Given the description of an element on the screen output the (x, y) to click on. 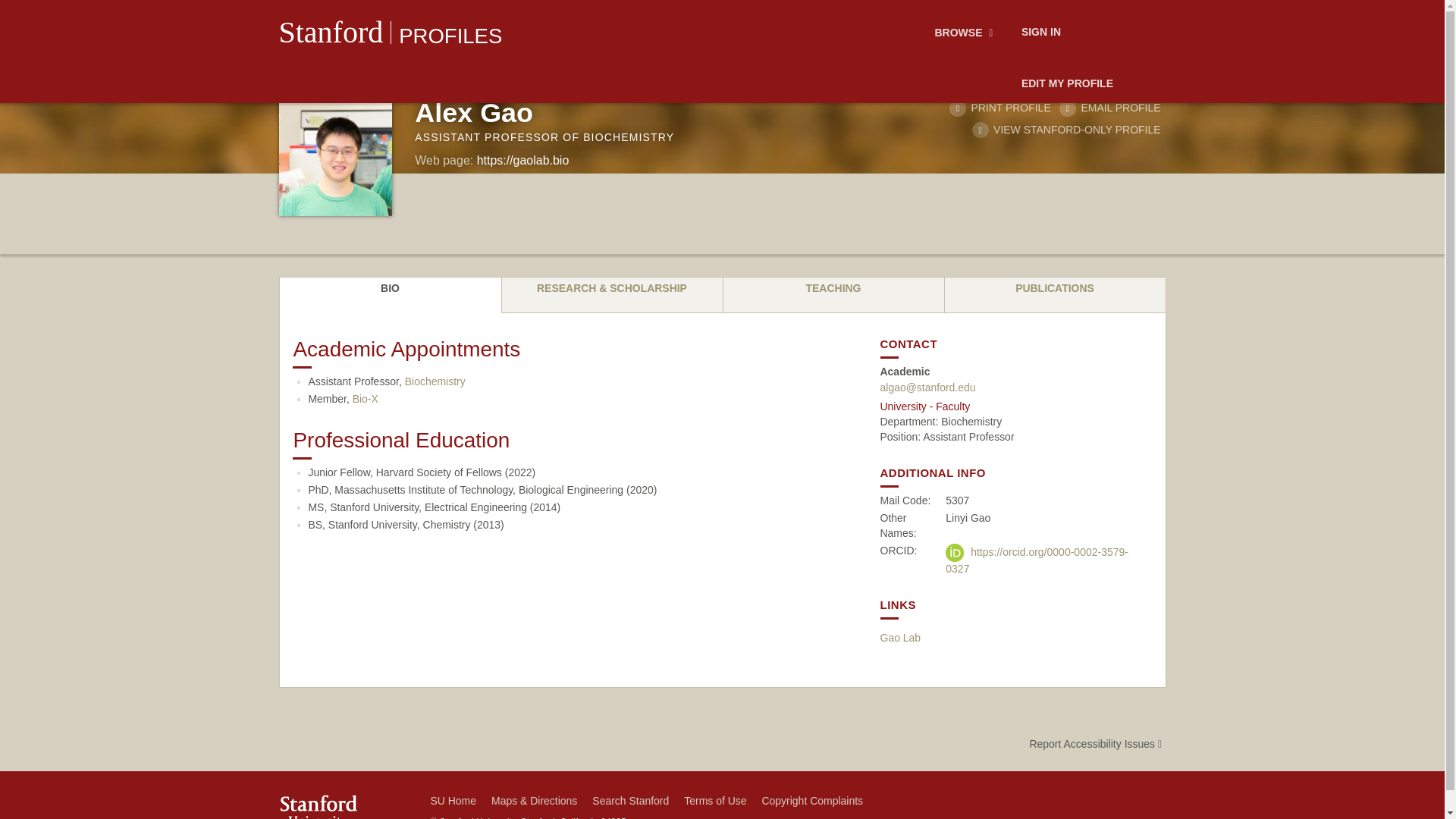
BROWSE (966, 32)
PRINT PROFILE (1000, 107)
PROFILES (450, 35)
VIEW STANFORD-ONLY PROFILE (1066, 129)
Stanford (331, 32)
EDIT MY PROFILE (1067, 84)
SIGN IN (1040, 32)
EMAIL PROFILE (1109, 107)
